Given the description of an element on the screen output the (x, y) to click on. 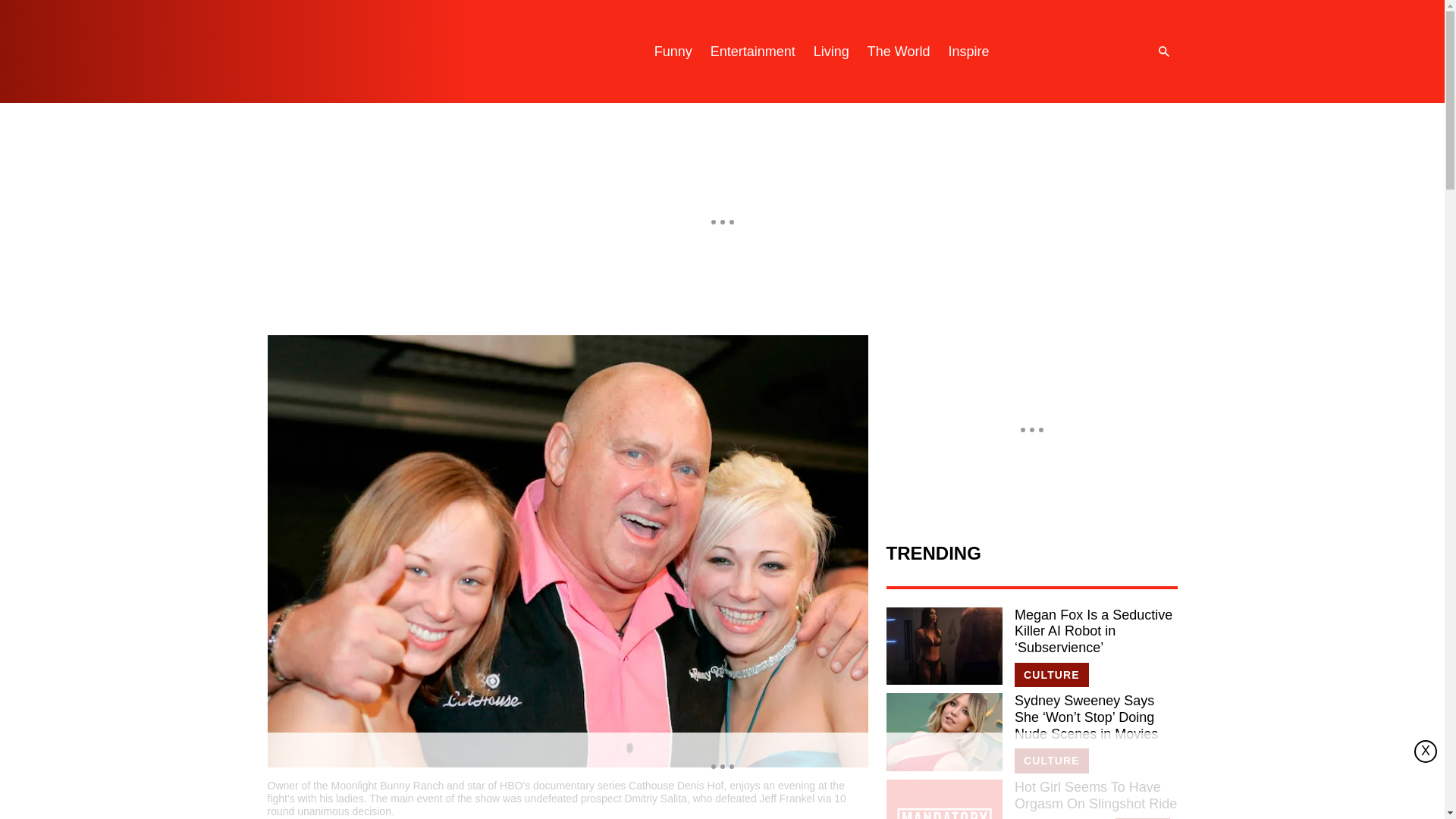
Facebook (1109, 51)
Funny (673, 51)
The World (899, 51)
Entertainment (753, 51)
Inspire (968, 51)
CULTURE (1051, 674)
Instagram (1048, 51)
Twitter (1079, 51)
Hot Girl Seems To Have Orgasm On Slingshot Ride (944, 799)
Living (832, 51)
